Given the description of an element on the screen output the (x, y) to click on. 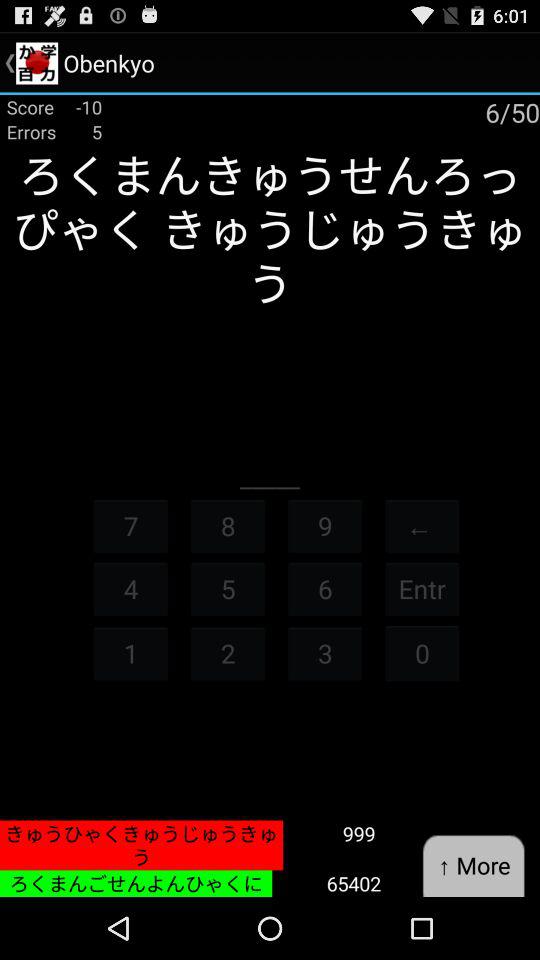
turn on the 3 button (325, 652)
